Given the description of an element on the screen output the (x, y) to click on. 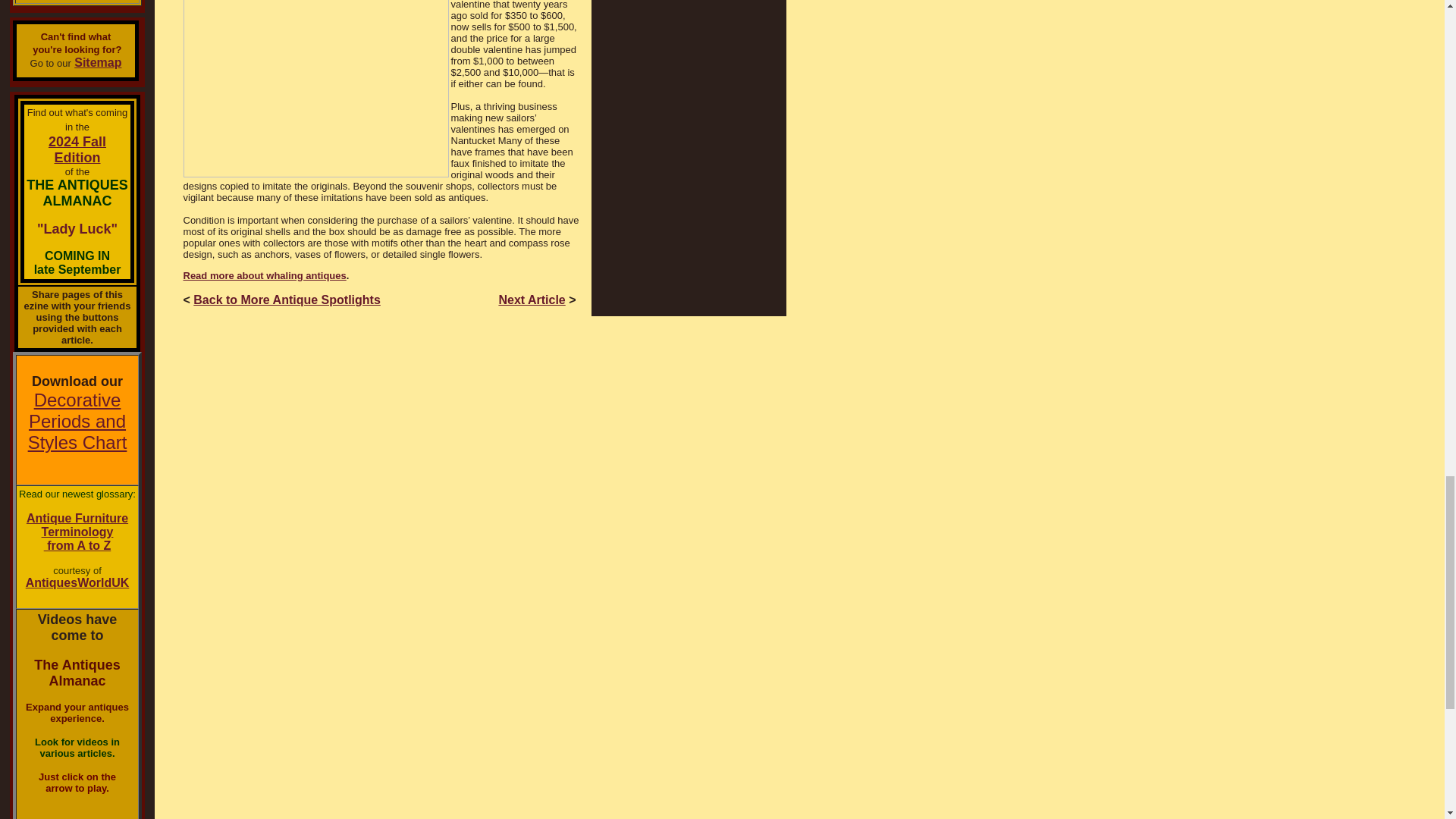
Next Article (530, 299)
Sitemap (97, 62)
Decorative Periods and Styles Chart (77, 420)
Read more about whaling antiques (77, 531)
2024 Fall Edition (264, 275)
Back to More Antique Spotlights (77, 149)
AntiquesWorldUK (286, 299)
